Given the description of an element on the screen output the (x, y) to click on. 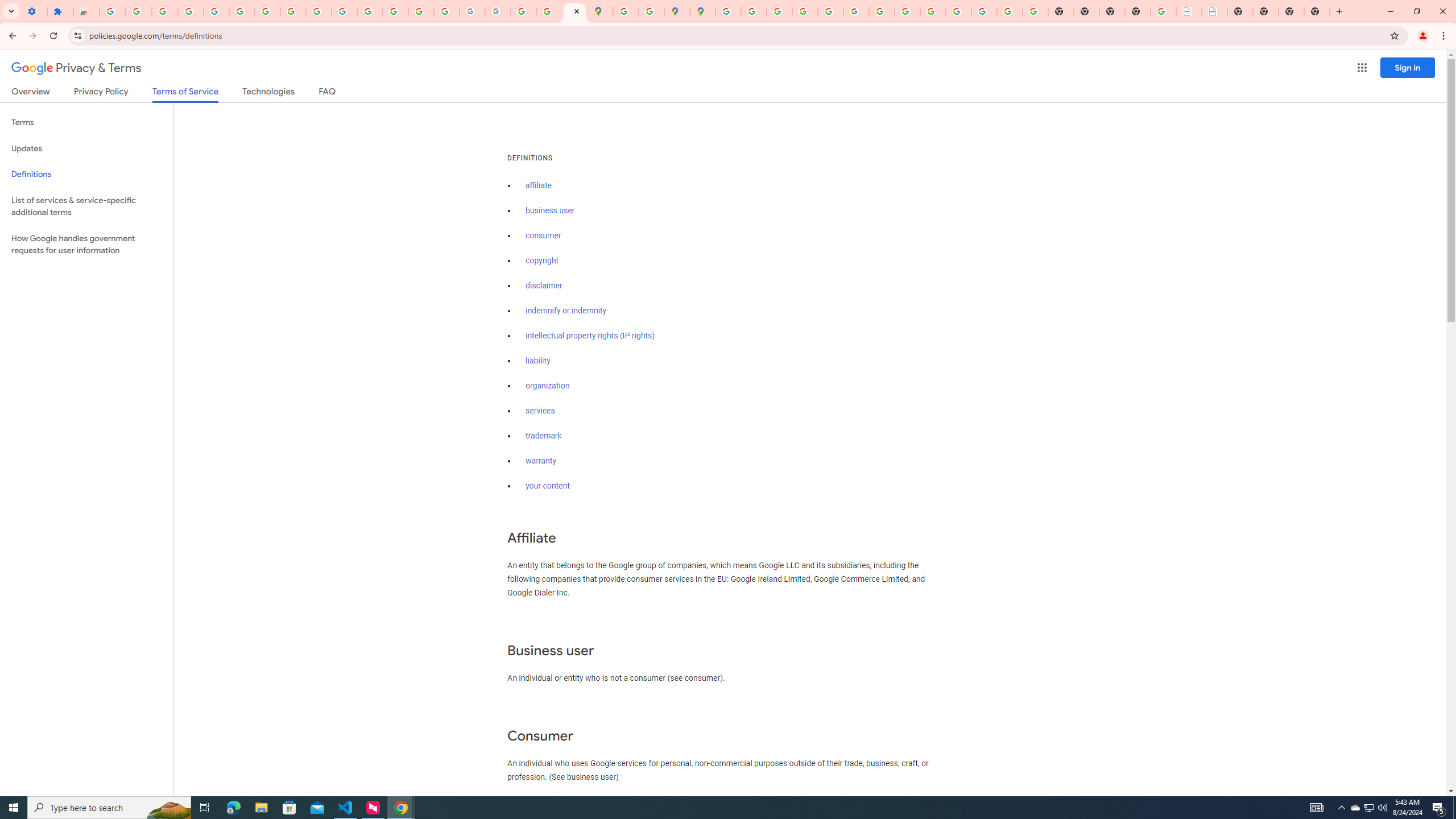
your content (547, 486)
Safety in Our Products - Google Safety Center (651, 11)
intellectual property rights (IP rights) (590, 335)
Privacy Help Center - Policies Help (804, 11)
